Given the description of an element on the screen output the (x, y) to click on. 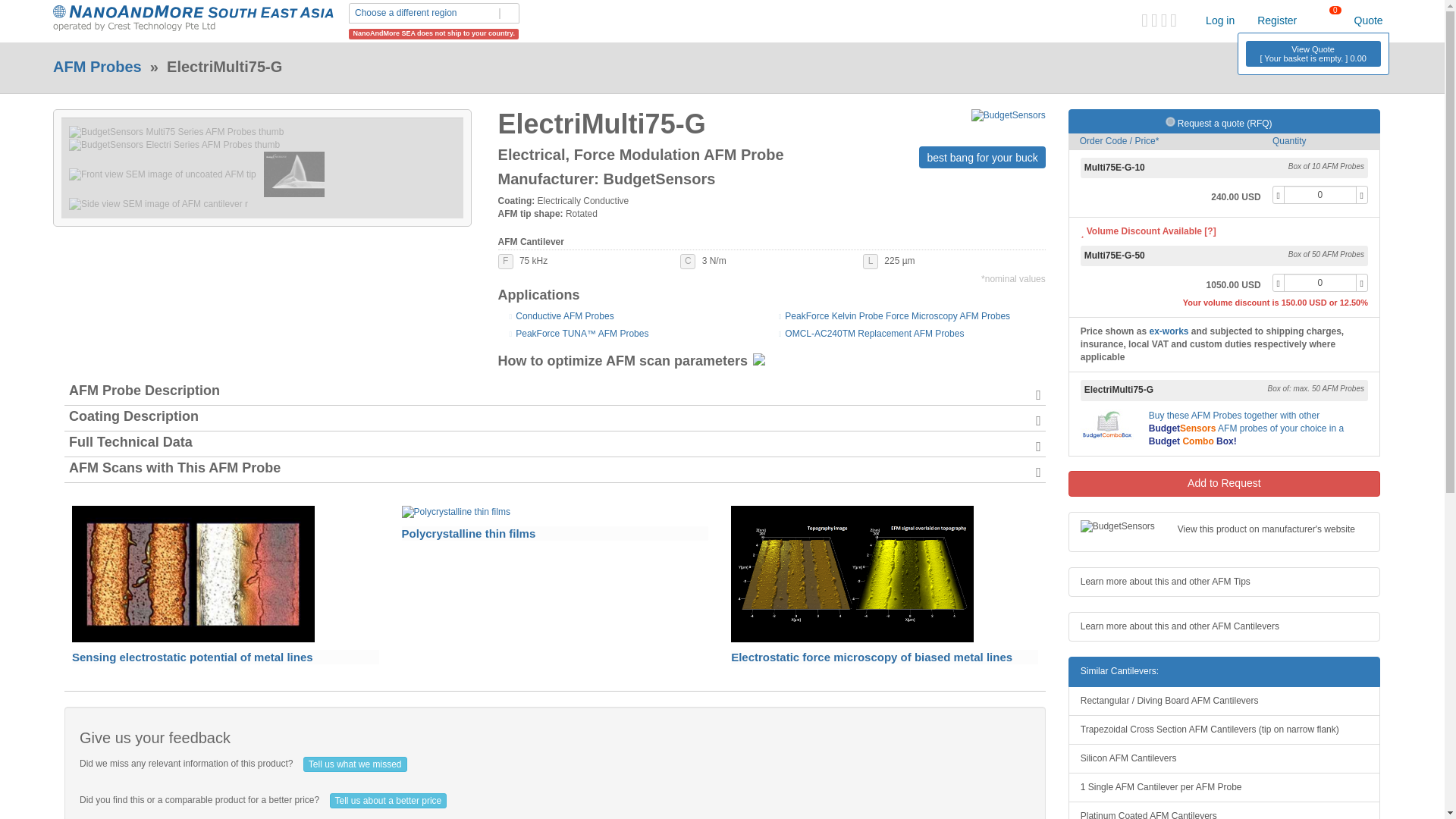
Choose a different region (433, 13)
AFM ACCESSORIES (353, 20)
Home (192, 18)
Quote (1368, 20)
rfq (1170, 121)
Polycrystalline thin films (456, 512)
NEWS (452, 20)
0 (1320, 194)
AFM PROBES CATALOG (122, 20)
